Given the description of an element on the screen output the (x, y) to click on. 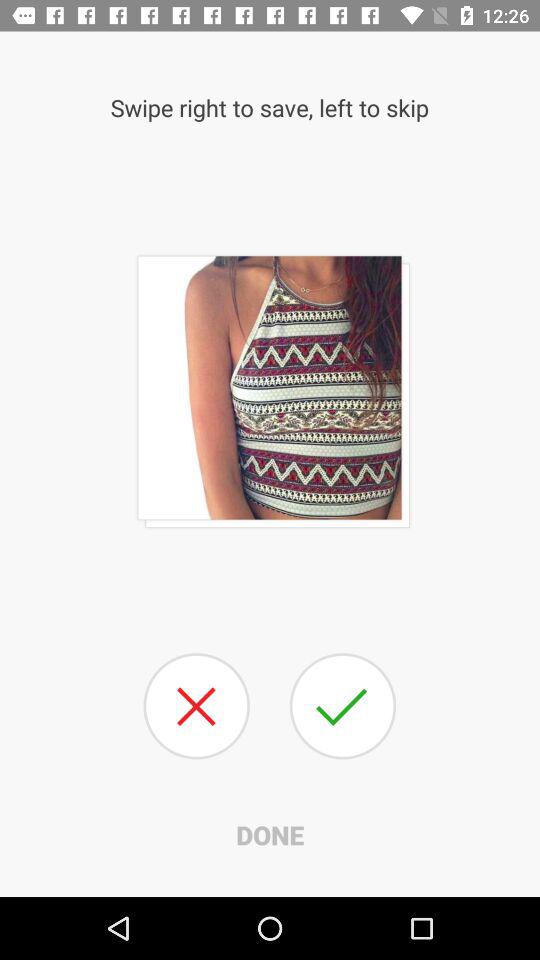
skip the photo (196, 705)
